Given the description of an element on the screen output the (x, y) to click on. 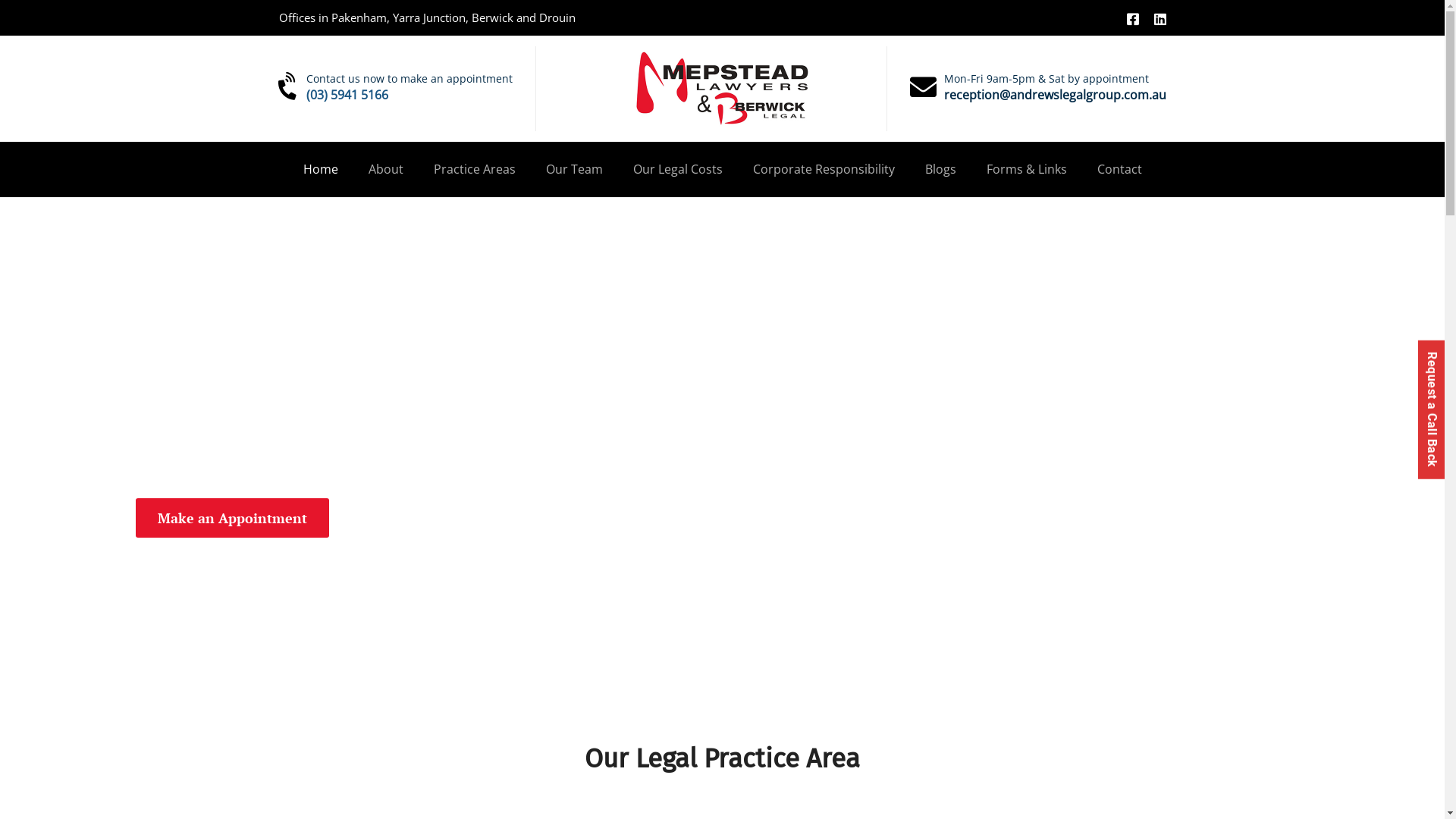
Corporate Responsibility Element type: text (822, 169)
Contact Element type: text (1118, 169)
Home Element type: text (320, 169)
Blogs Element type: text (940, 169)
(03) 5941 5166 Element type: text (347, 94)
Our Team Element type: text (574, 169)
Our Legal Costs Element type: text (676, 169)
Forms & Links Element type: text (1025, 169)
Practice Areas Element type: text (474, 169)
Make an Appointment Element type: text (232, 517)
About Element type: text (385, 169)
